Given the description of an element on the screen output the (x, y) to click on. 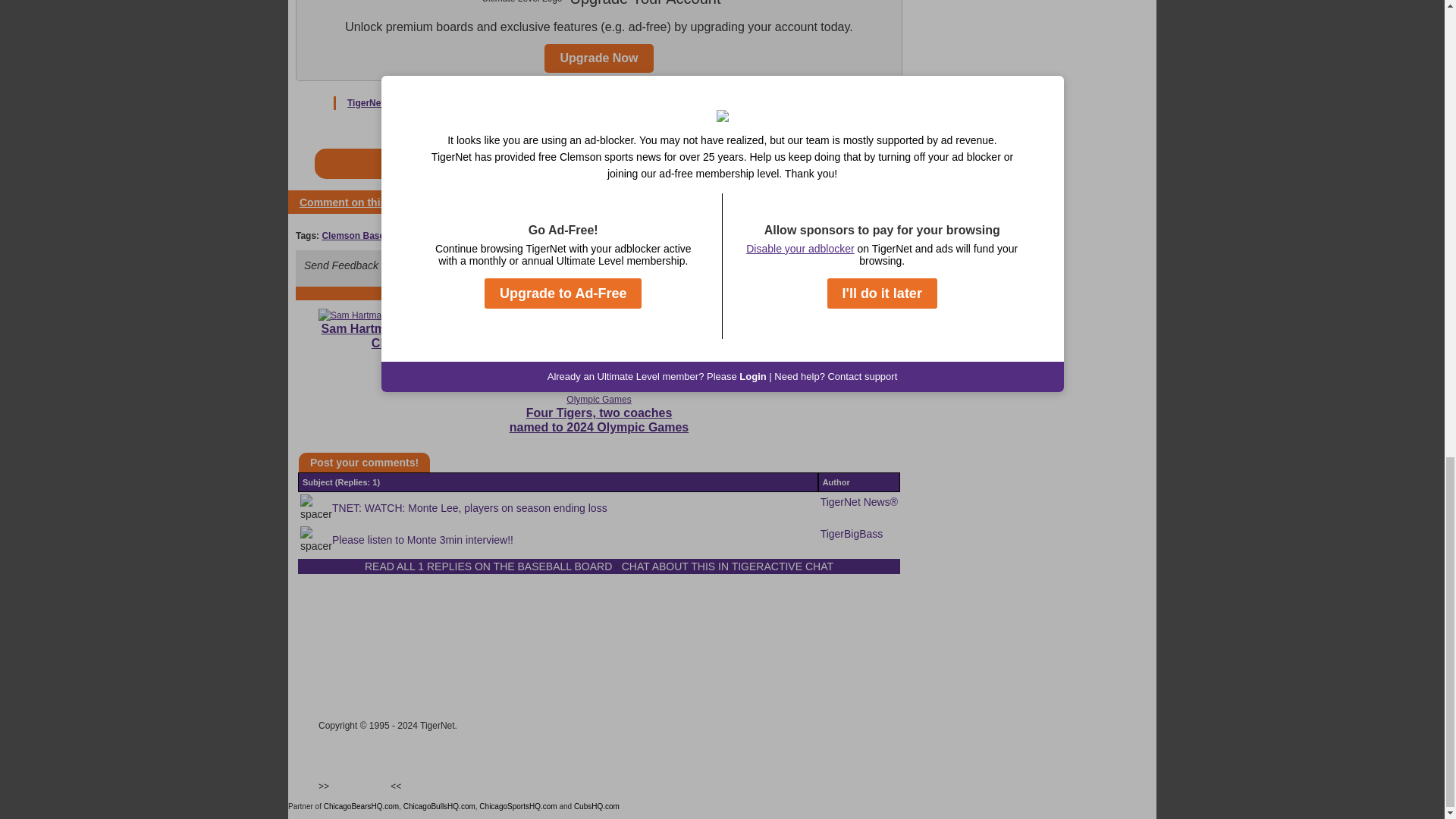
Forums (337, 618)
Chat (330, 630)
Print (879, 201)
Click to reply to this topic (364, 462)
Click to reply to this topic (356, 202)
Front Page (346, 606)
